Given the description of an element on the screen output the (x, y) to click on. 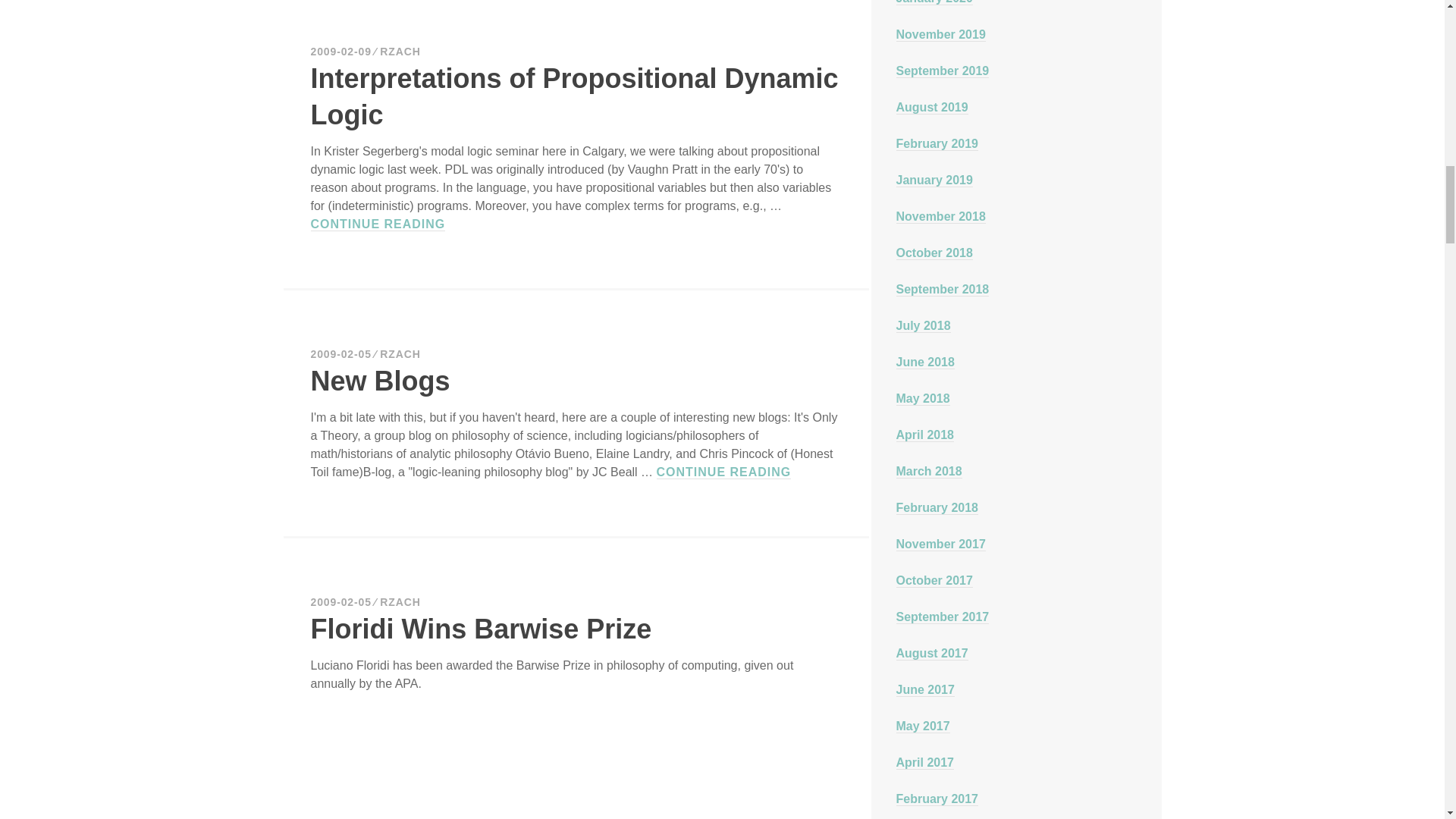
New Blogs (380, 380)
RZACH (724, 472)
2009-02-09 (400, 51)
RZACH (341, 51)
2009-02-05 (400, 602)
RZACH (341, 354)
Interpretations of Propositional Dynamic Logic (400, 354)
Floridi Wins Barwise Prize (574, 96)
2009-02-05 (481, 628)
